Given the description of an element on the screen output the (x, y) to click on. 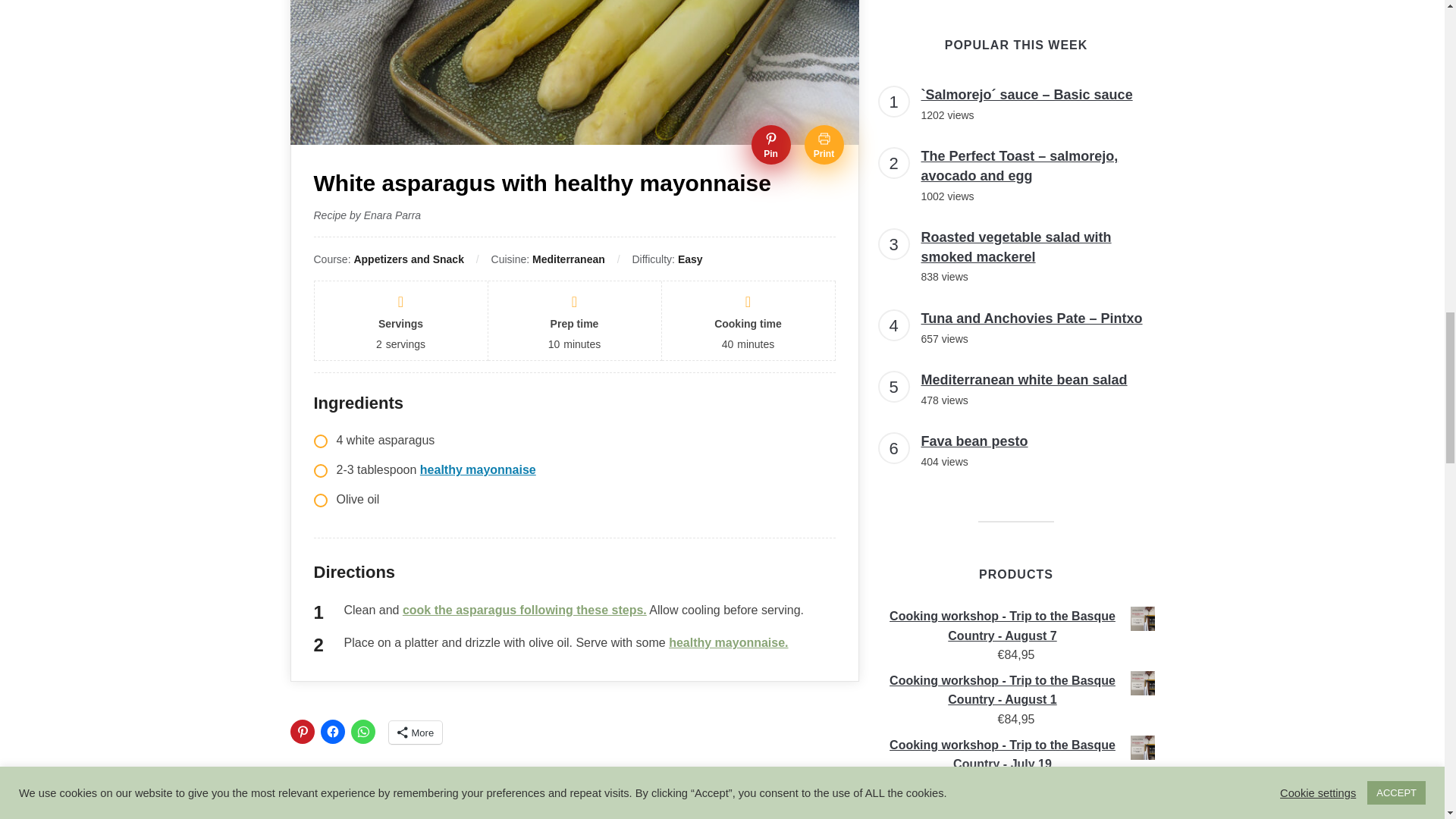
Click to share on WhatsApp (362, 731)
Healthy mayonnaise (572, 815)
Click to share on Facebook (331, 731)
White asparagus with shrimp salad (378, 815)
Print directions... (823, 144)
Click to share on Pinterest (301, 731)
